Given the description of an element on the screen output the (x, y) to click on. 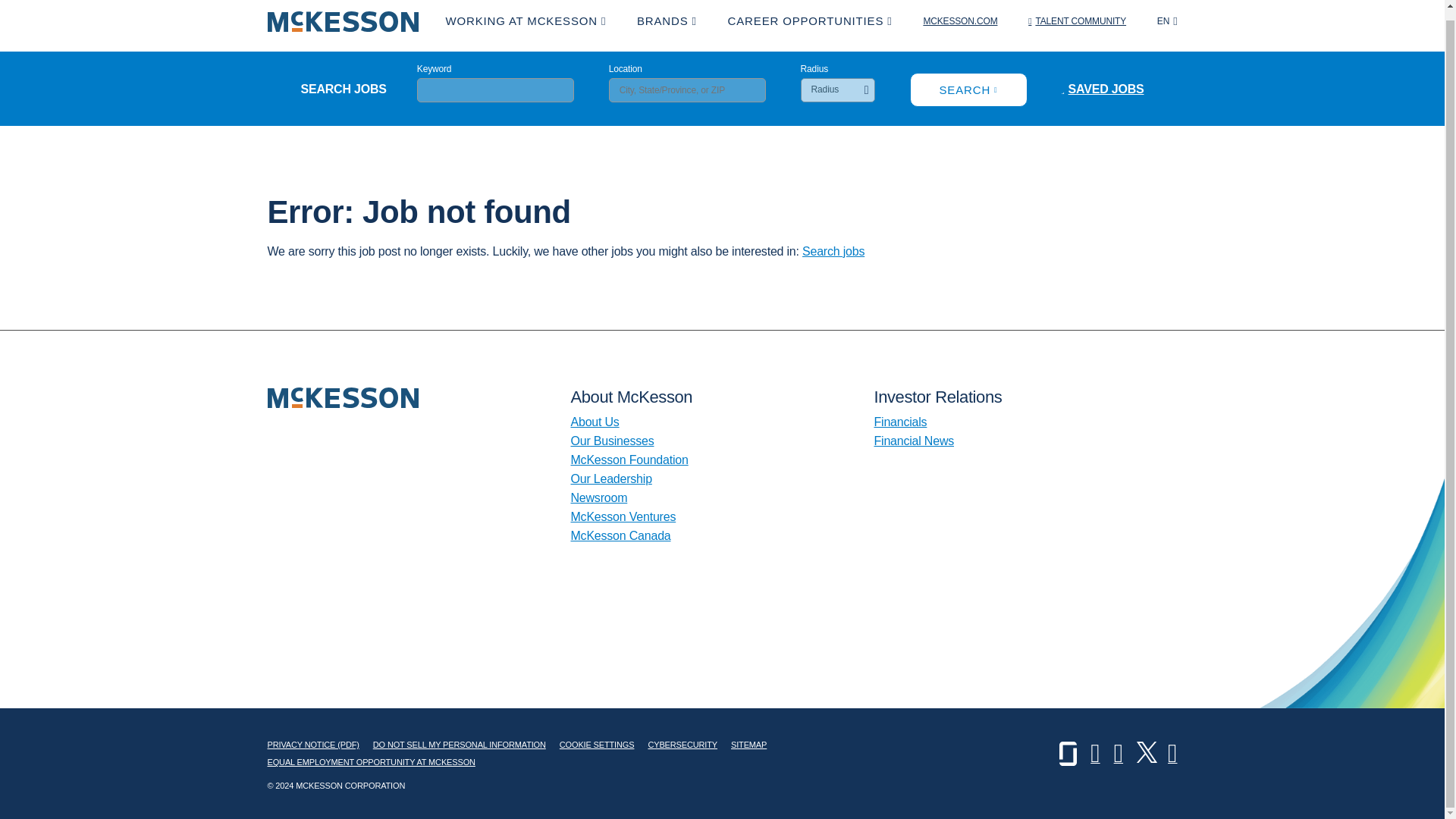
TALENT COMMUNITY (1076, 21)
CAREER OPPORTUNITIES (810, 20)
SAVED JOBS (1101, 89)
About Us (594, 421)
BRANDS (667, 20)
Financials (899, 421)
Newsroom (598, 497)
McKesson Ventures (622, 516)
SEARCH (968, 89)
Search jobs (833, 250)
